Given the description of an element on the screen output the (x, y) to click on. 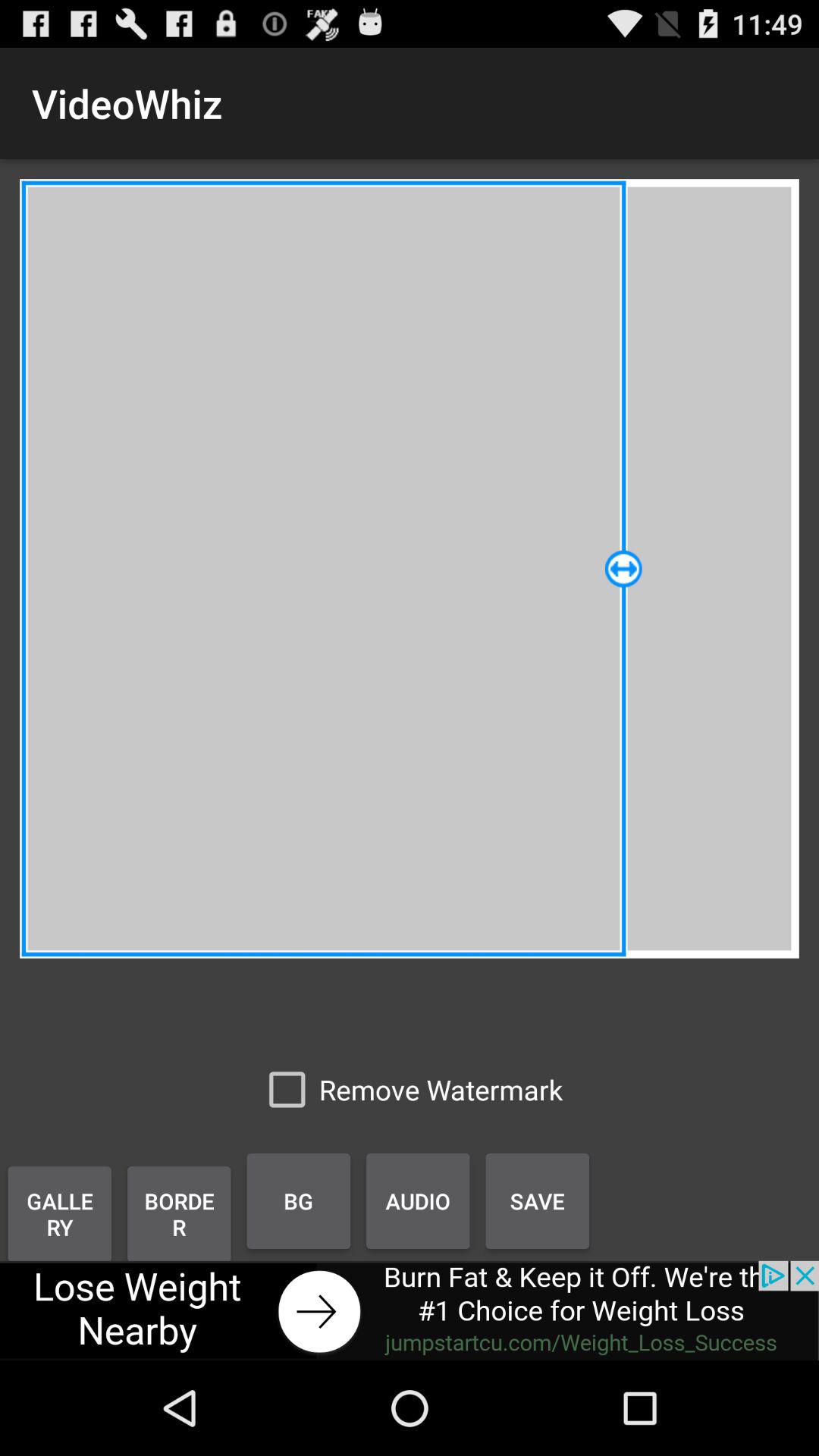
visit advertiser website (409, 1310)
